Given the description of an element on the screen output the (x, y) to click on. 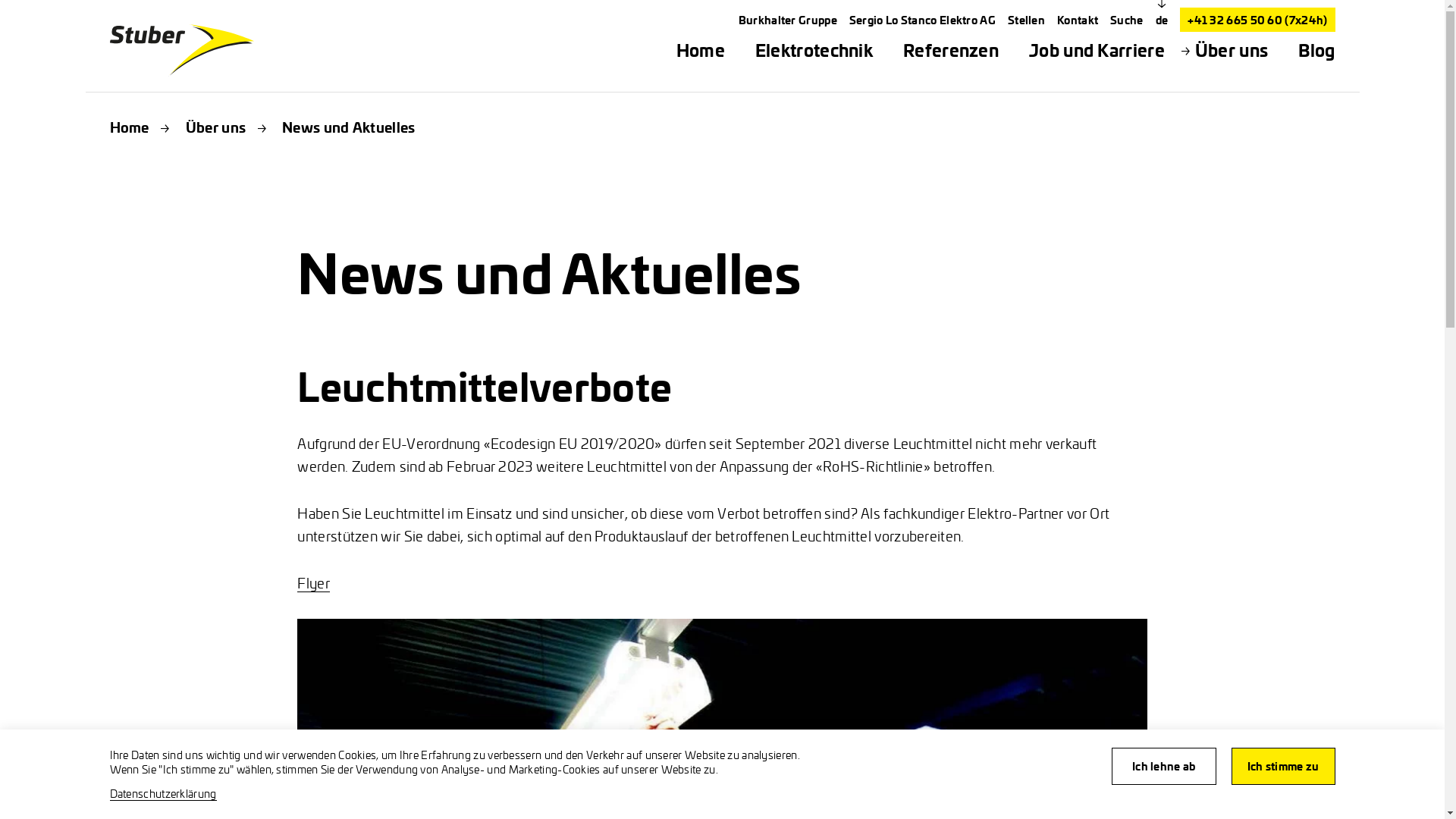
Kontakt Element type: text (1077, 20)
Job und Karriere Element type: text (1096, 49)
Suche Element type: text (1126, 20)
Burkhalter Gruppe Element type: text (787, 20)
Home Element type: text (700, 49)
Referenzen Element type: text (950, 49)
Elektrotechnik Element type: text (813, 49)
Ich stimme zu Element type: text (1283, 765)
Stellen Element type: text (1025, 20)
de Element type: text (1161, 20)
+41 32 665 50 60 (7x24h) Element type: text (1256, 19)
Blog Element type: text (1316, 49)
Ich lehne ab Element type: text (1163, 765)
Sergio Lo Stanco Elektro AG Element type: text (922, 20)
Flyer Element type: text (313, 582)
Home Element type: text (128, 126)
